Given the description of an element on the screen output the (x, y) to click on. 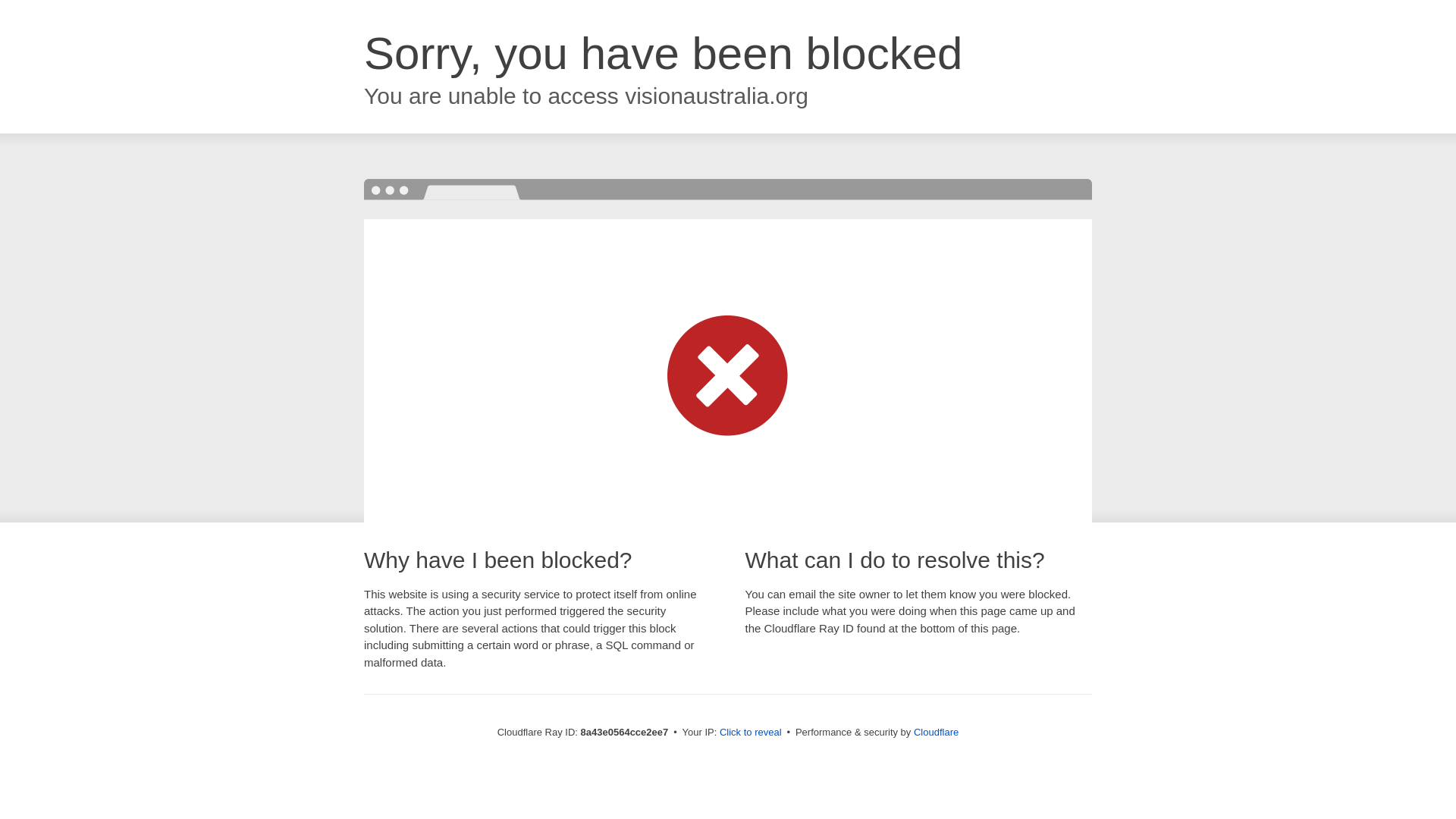
Cloudflare (936, 731)
Click to reveal (750, 732)
